Given the description of an element on the screen output the (x, y) to click on. 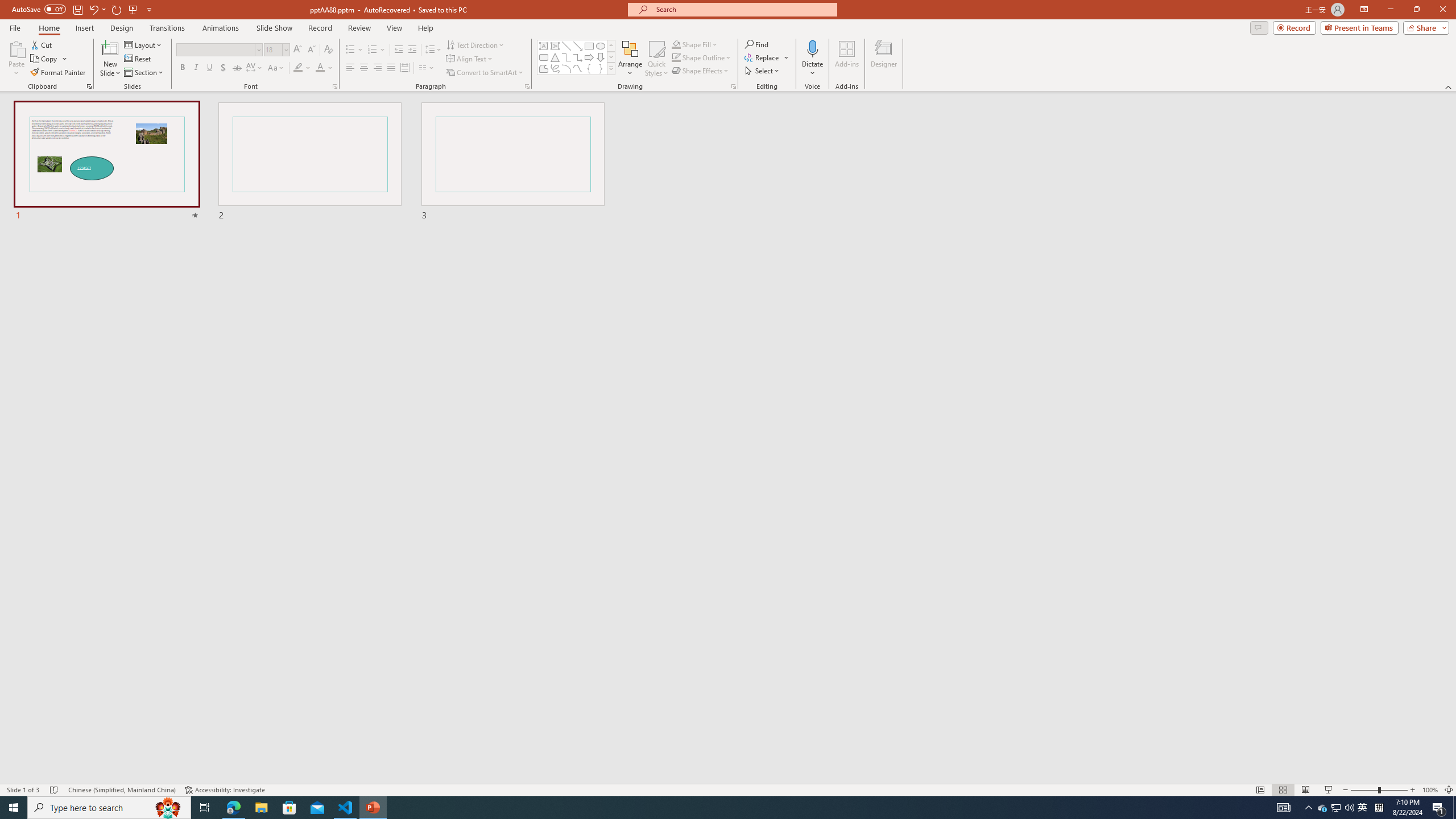
Clear Formatting (327, 49)
Curve (577, 68)
Increase Font Size (297, 49)
Isosceles Triangle (554, 57)
Vertical Text Box (554, 45)
Center (363, 67)
Shadow (223, 67)
